Given the description of an element on the screen output the (x, y) to click on. 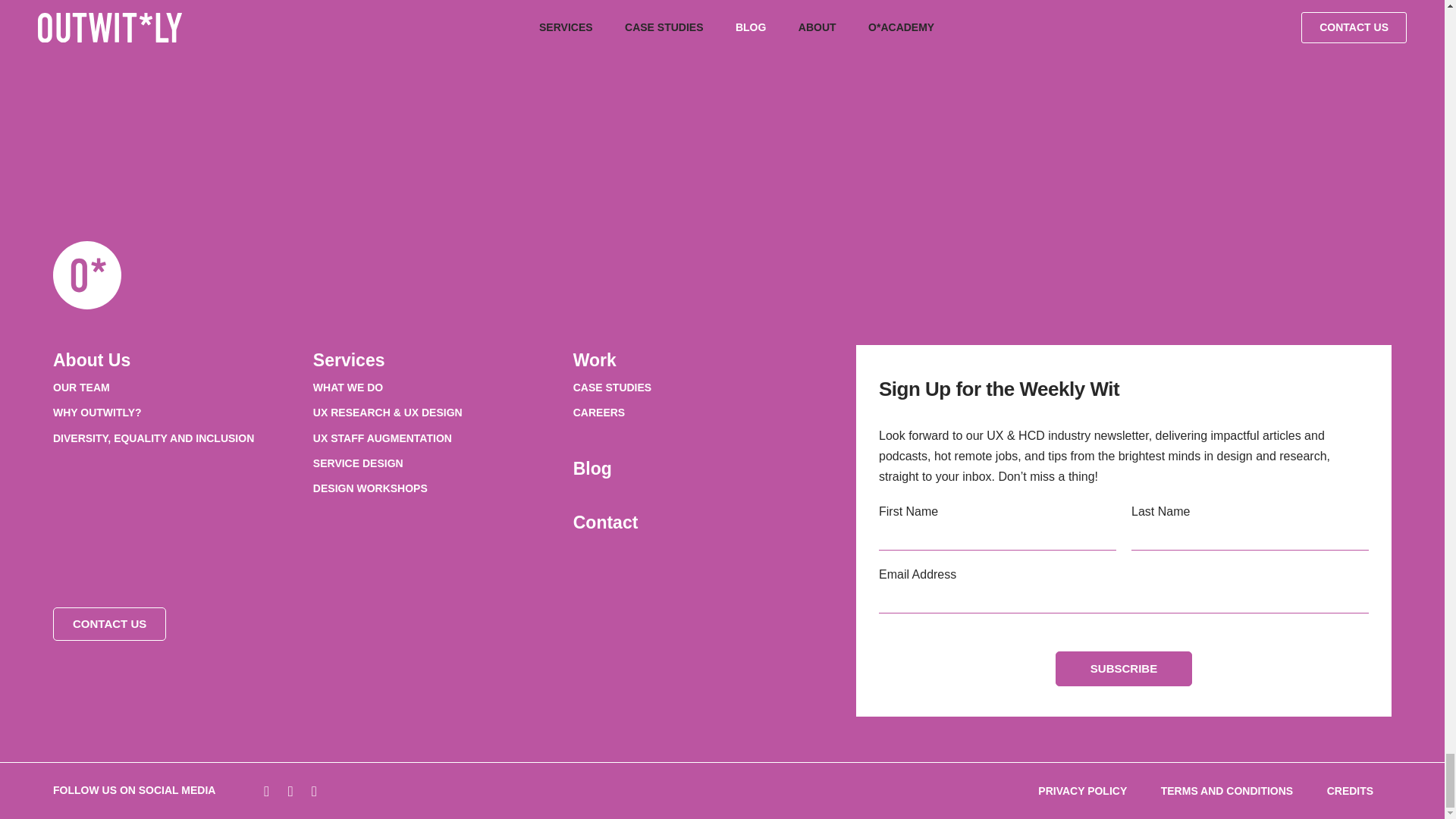
Subscribe (1123, 669)
